Given the description of an element on the screen output the (x, y) to click on. 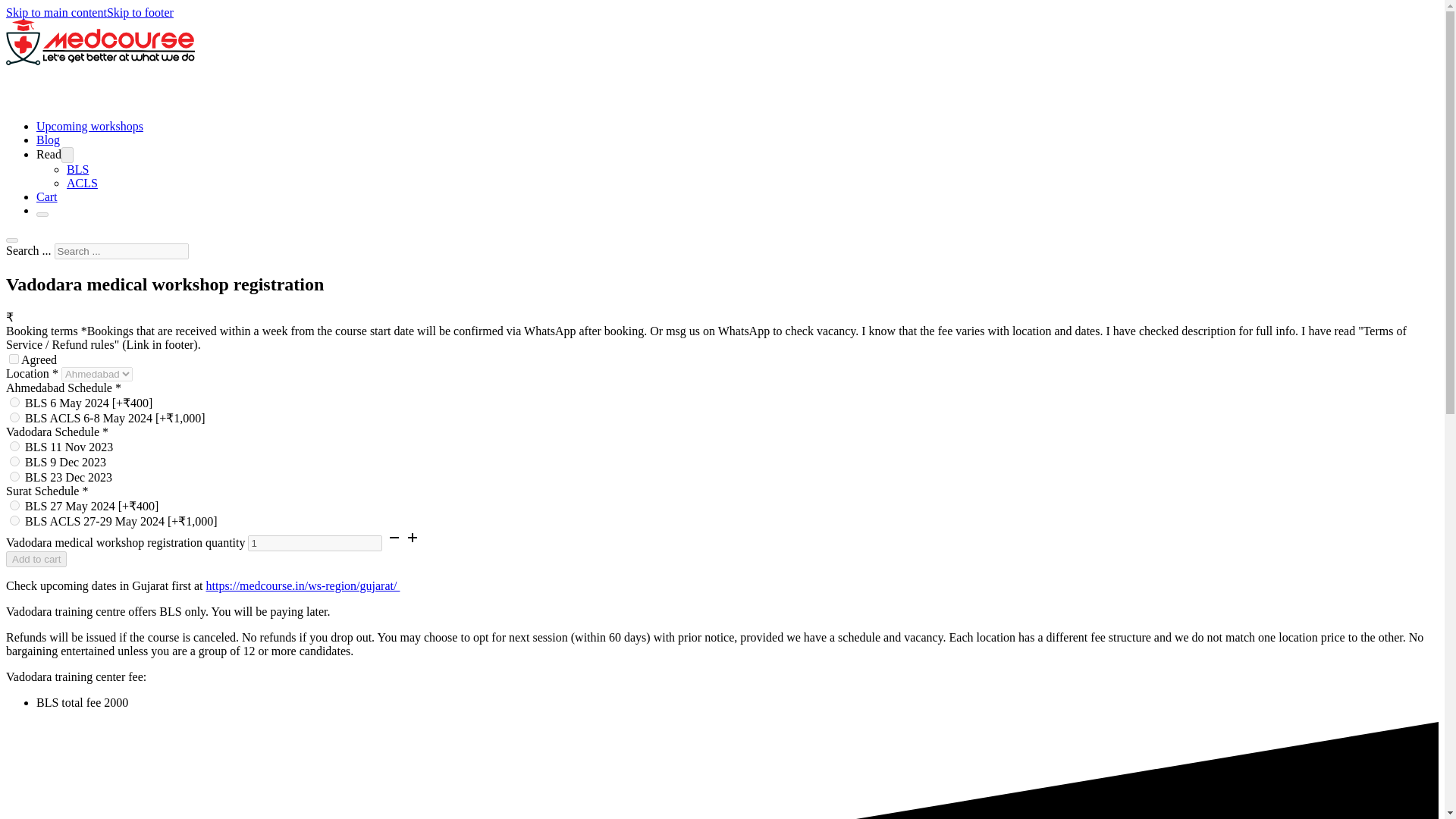
BLS 23 Dec 2023 (15, 476)
ACLS (81, 182)
BLS 9 Dec 2023 (15, 461)
Skip to footer (139, 11)
BLS 6 May 2024 (15, 402)
BLS (77, 169)
BLS ACLS 27-29 May 2024 (15, 520)
1 (314, 543)
Cart (47, 196)
Blog (47, 139)
BLS 11 Nov 2023 (15, 446)
Skip to main content (55, 11)
BLS ACLS 6-8 May 2024 (15, 417)
Add to cart (35, 559)
Agreed (13, 358)
